Given the description of an element on the screen output the (x, y) to click on. 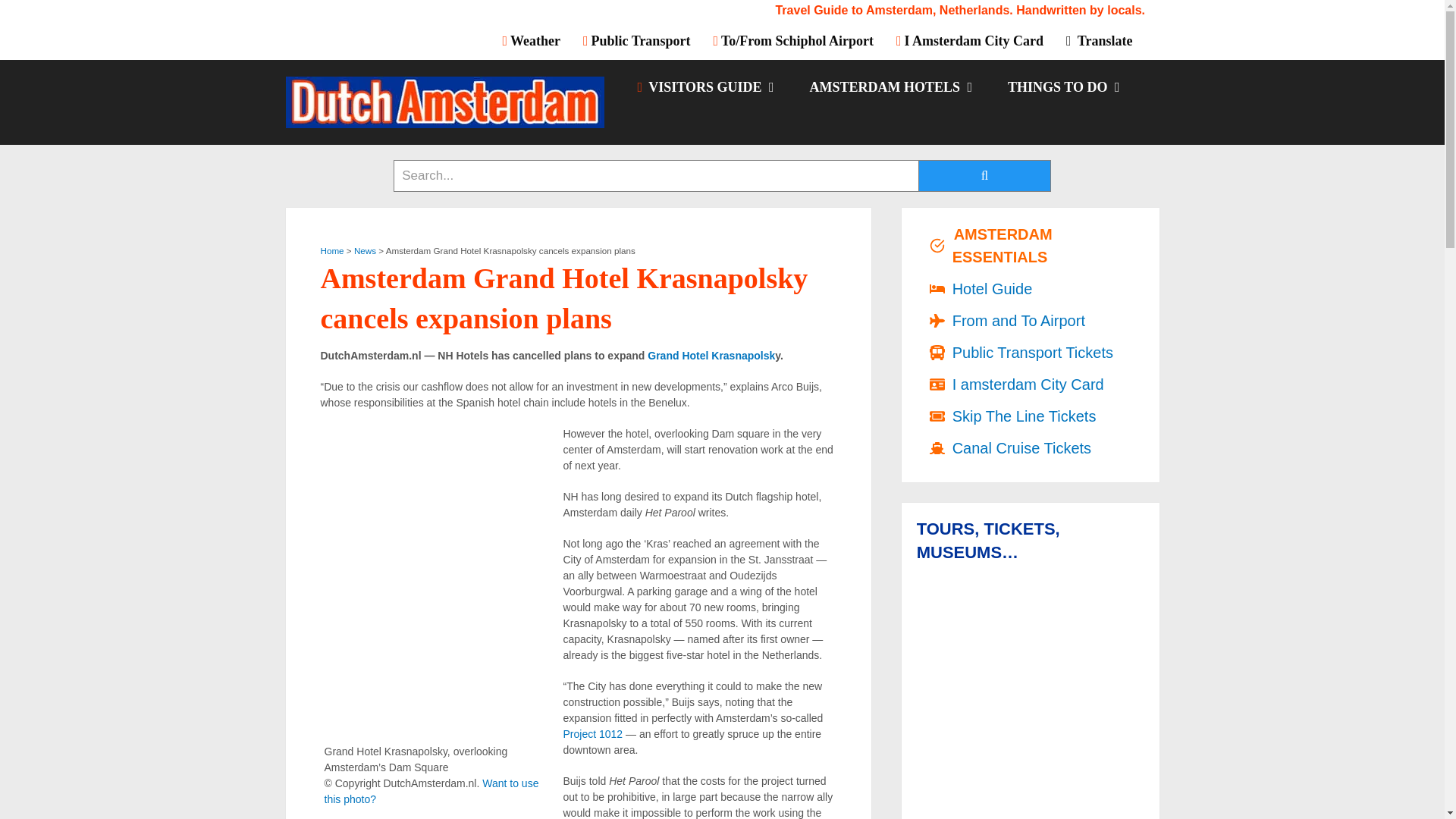
Visitors Guide (704, 86)
VISITORS GUIDE (704, 86)
AMSTERDAM HOTELS (890, 86)
Weather (537, 40)
August weather in Amsterdam (537, 40)
I Amsterdam City Card (969, 40)
Things to do in Amsterdam (1061, 86)
Translate this page (1098, 40)
Translate (1098, 40)
Public Transport (636, 40)
